Given the description of an element on the screen output the (x, y) to click on. 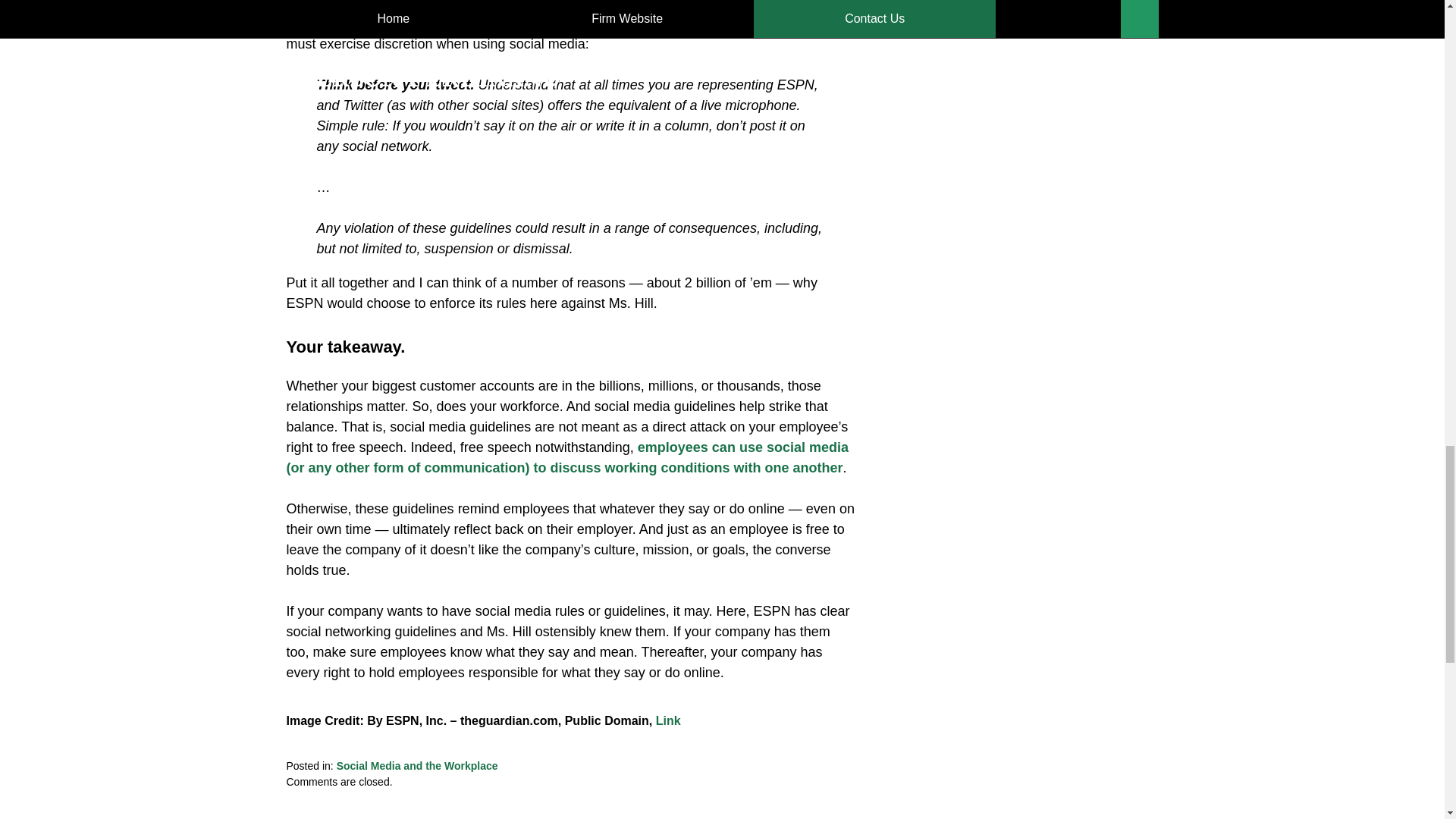
Link (668, 720)
Social Media and the Workplace (416, 766)
View all posts in Social Media and the Workplace (416, 766)
